Given the description of an element on the screen output the (x, y) to click on. 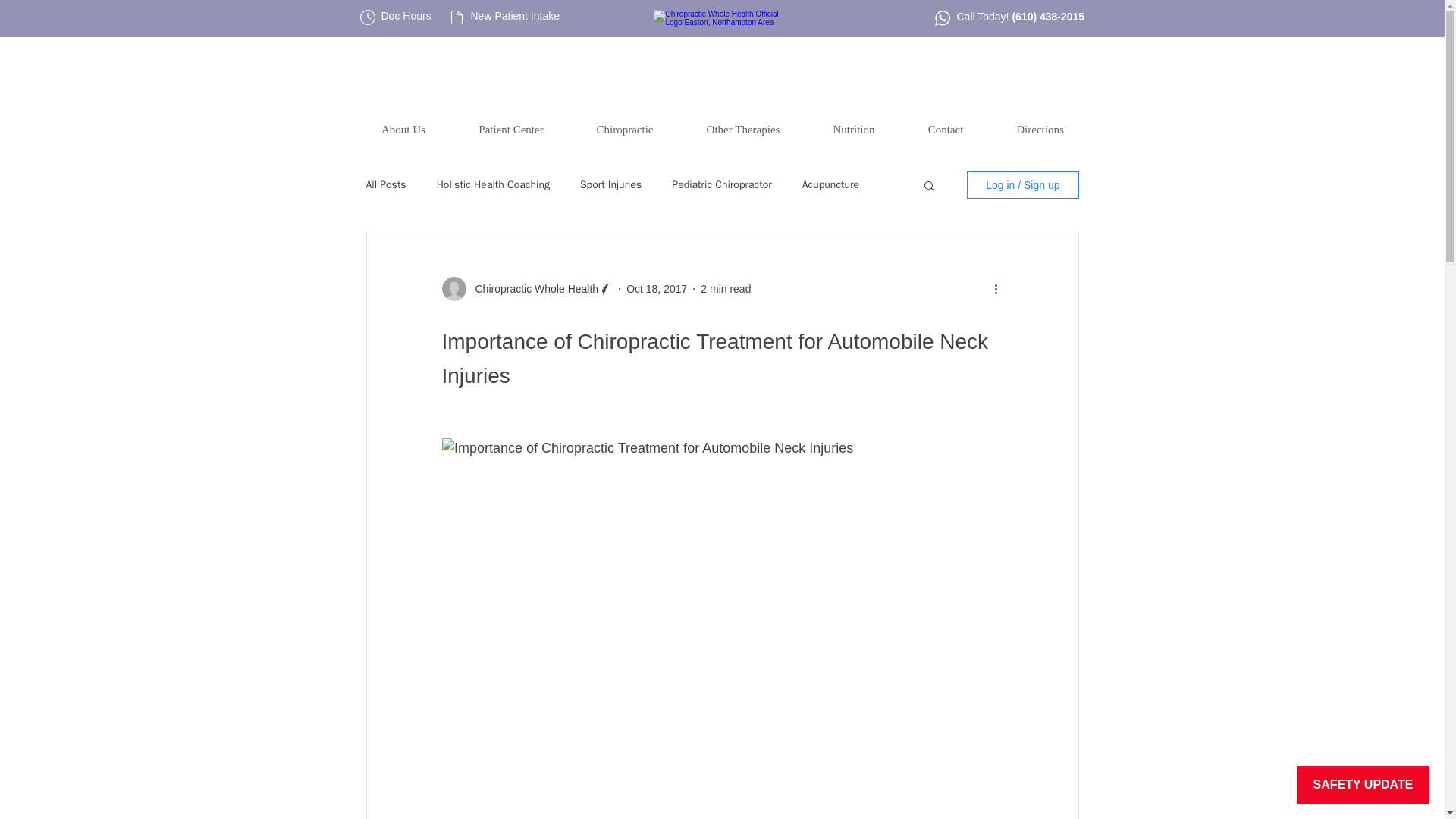
2 min read (725, 287)
Contact (945, 130)
Sport Injuries (610, 184)
Chiropractic Whole Health (531, 288)
Holistic Health Coaching (493, 184)
Return to Home (721, 55)
All Posts (385, 184)
New Patient Intake (514, 15)
Oct 18, 2017 (656, 287)
Doc Hours (405, 15)
